Given the description of an element on the screen output the (x, y) to click on. 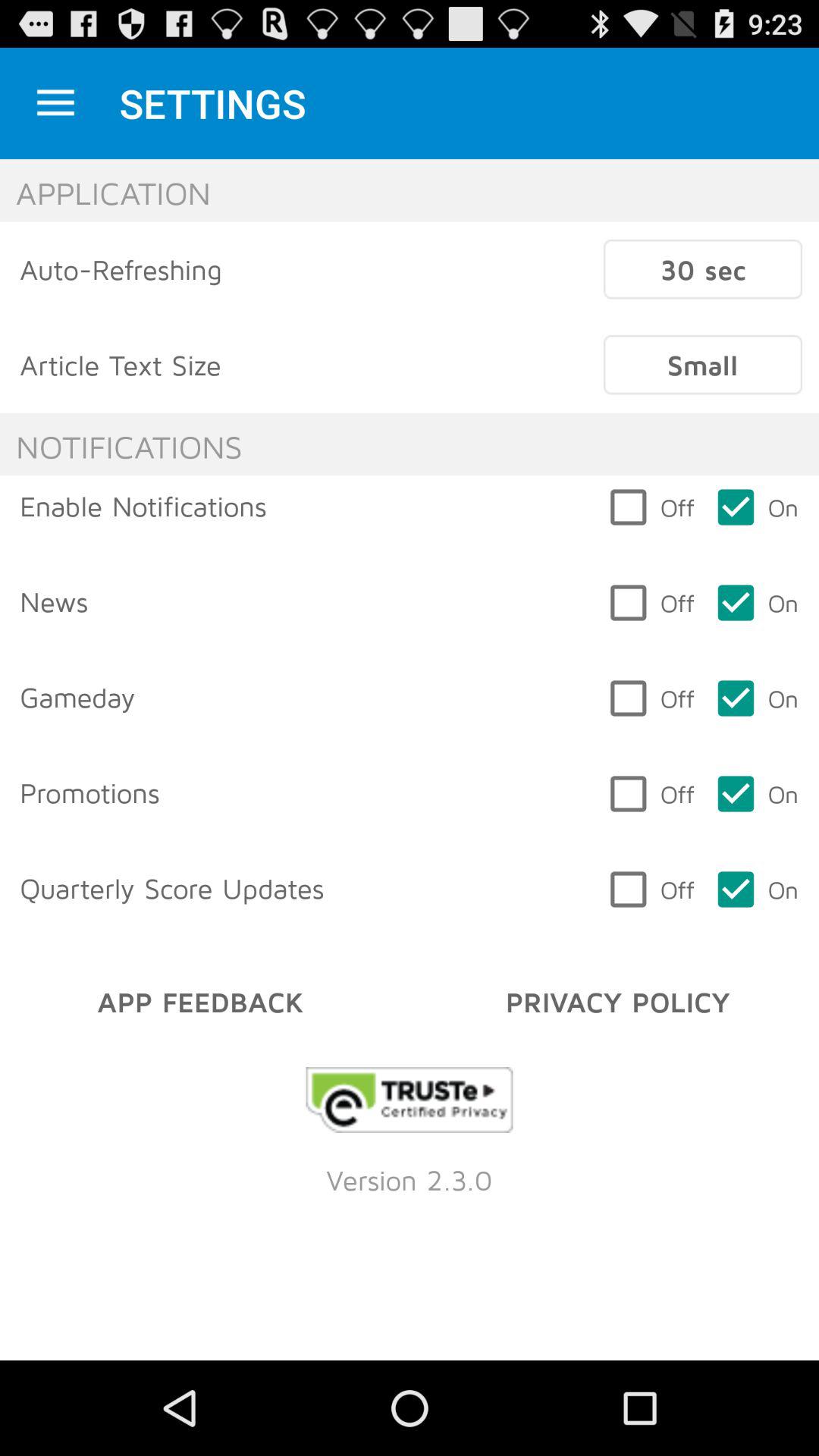
this a trustcertificate privacy (409, 1099)
